Given the description of an element on the screen output the (x, y) to click on. 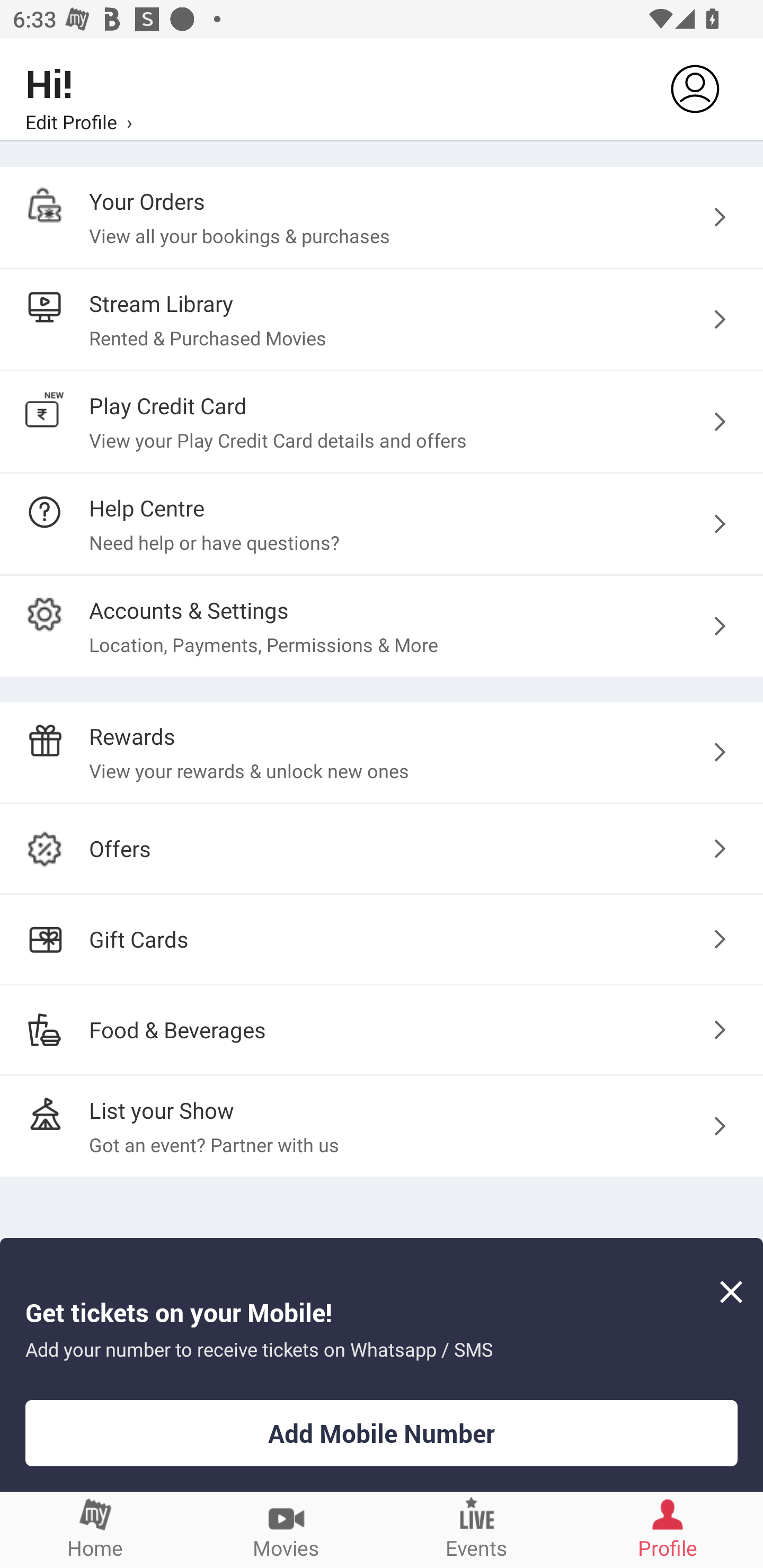
Edit Profile  › (78, 121)
Your Orders View all your bookings & purchases (381, 217)
Stream Library Rented & Purchased Movies (381, 319)
Help Centre Need help or have questions? (381, 523)
Rewards View your rewards & unlock new ones (381, 752)
Offers (381, 848)
Gift Cards (381, 939)
Food & Beverages (381, 1029)
List your Show Got an event? Partner with us (381, 1125)
Add Mobile Number (381, 1432)
Home (95, 1529)
Movies (285, 1529)
Events (476, 1529)
Profile (667, 1529)
